Given the description of an element on the screen output the (x, y) to click on. 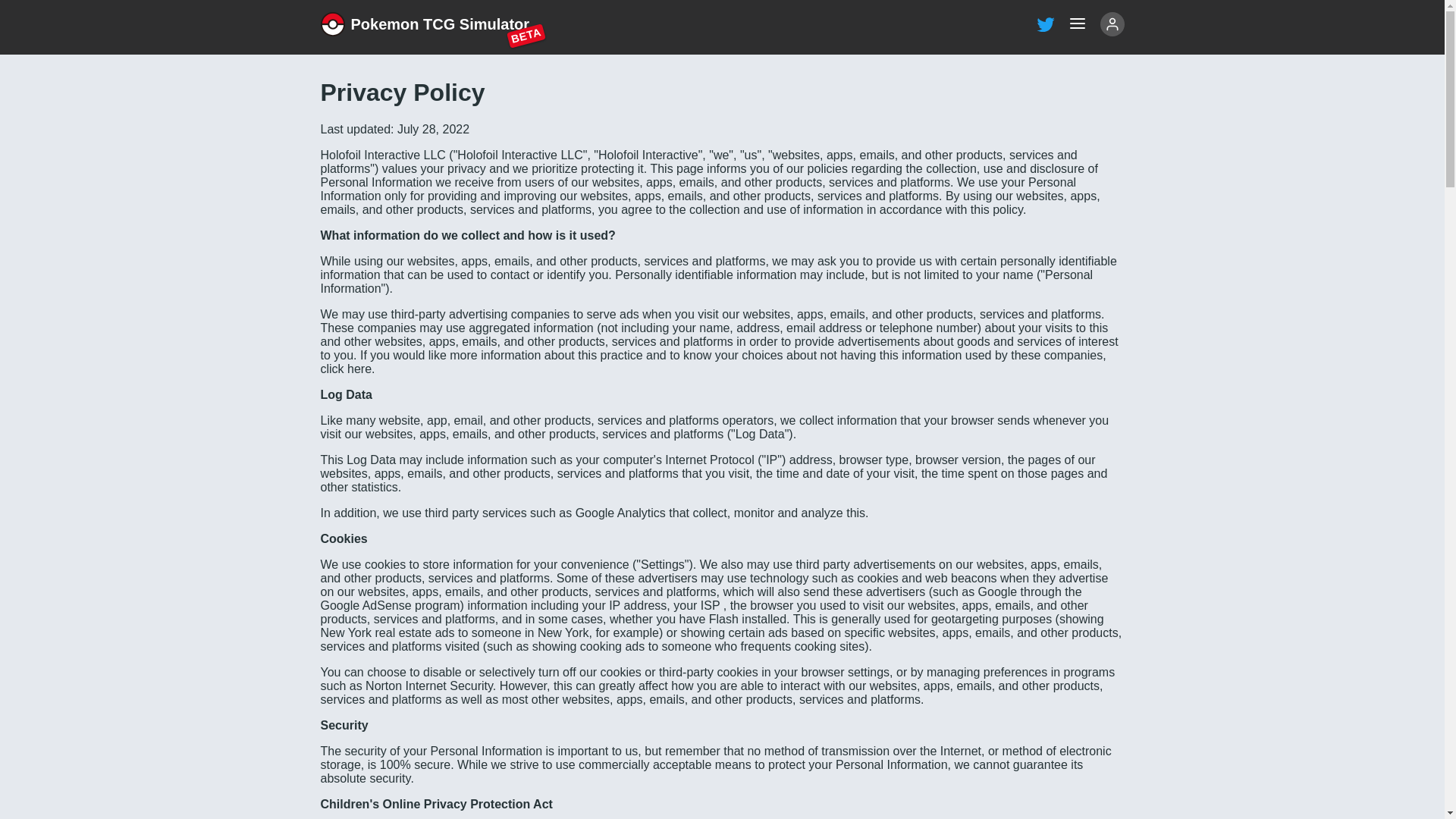
click here (424, 24)
